Given the description of an element on the screen output the (x, y) to click on. 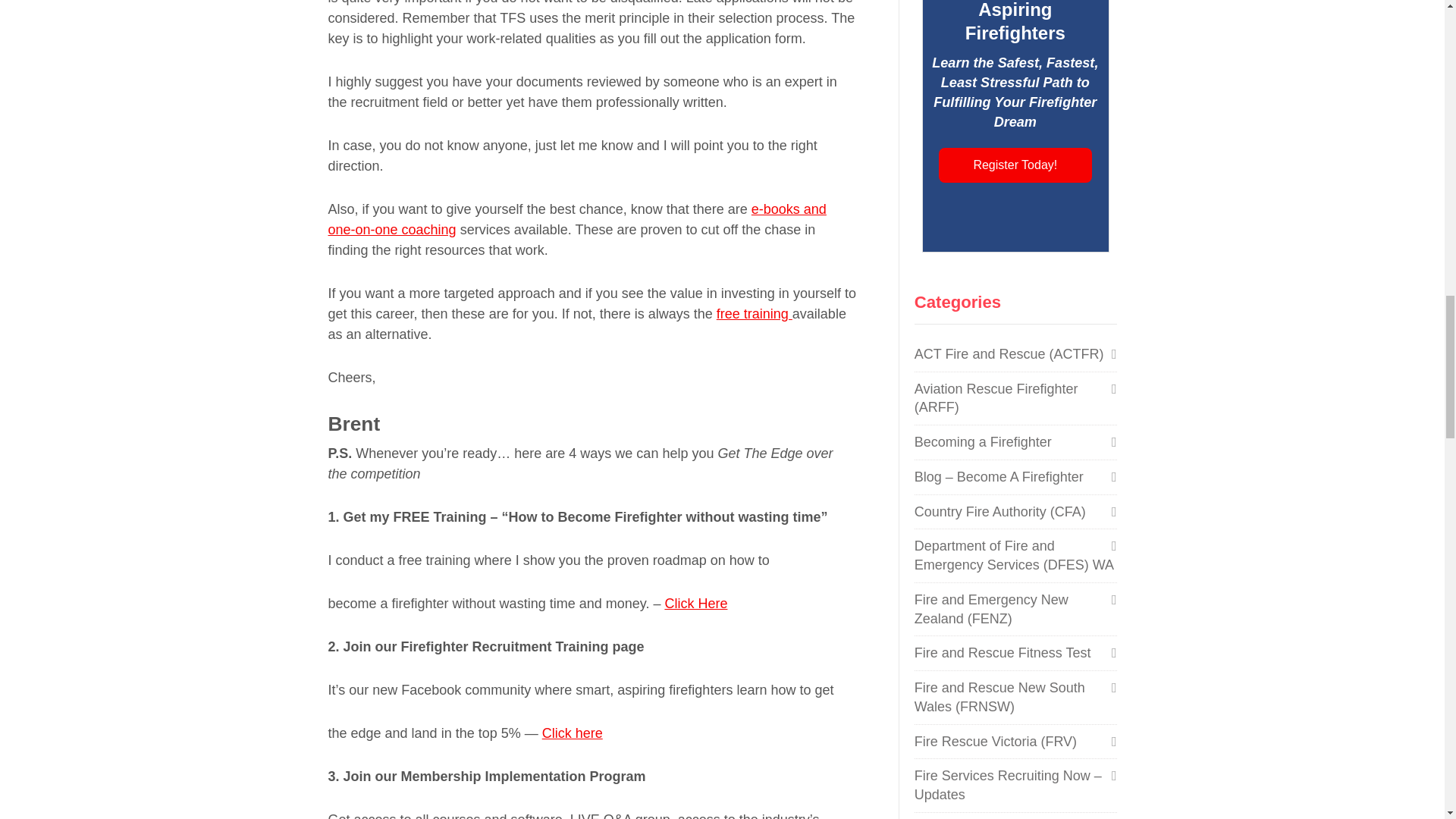
Click here (571, 733)
Register Today! (1015, 165)
e-books and one-on-one coaching (576, 219)
Click Here (694, 603)
free training (754, 313)
Becoming a Firefighter (982, 441)
